Given the description of an element on the screen output the (x, y) to click on. 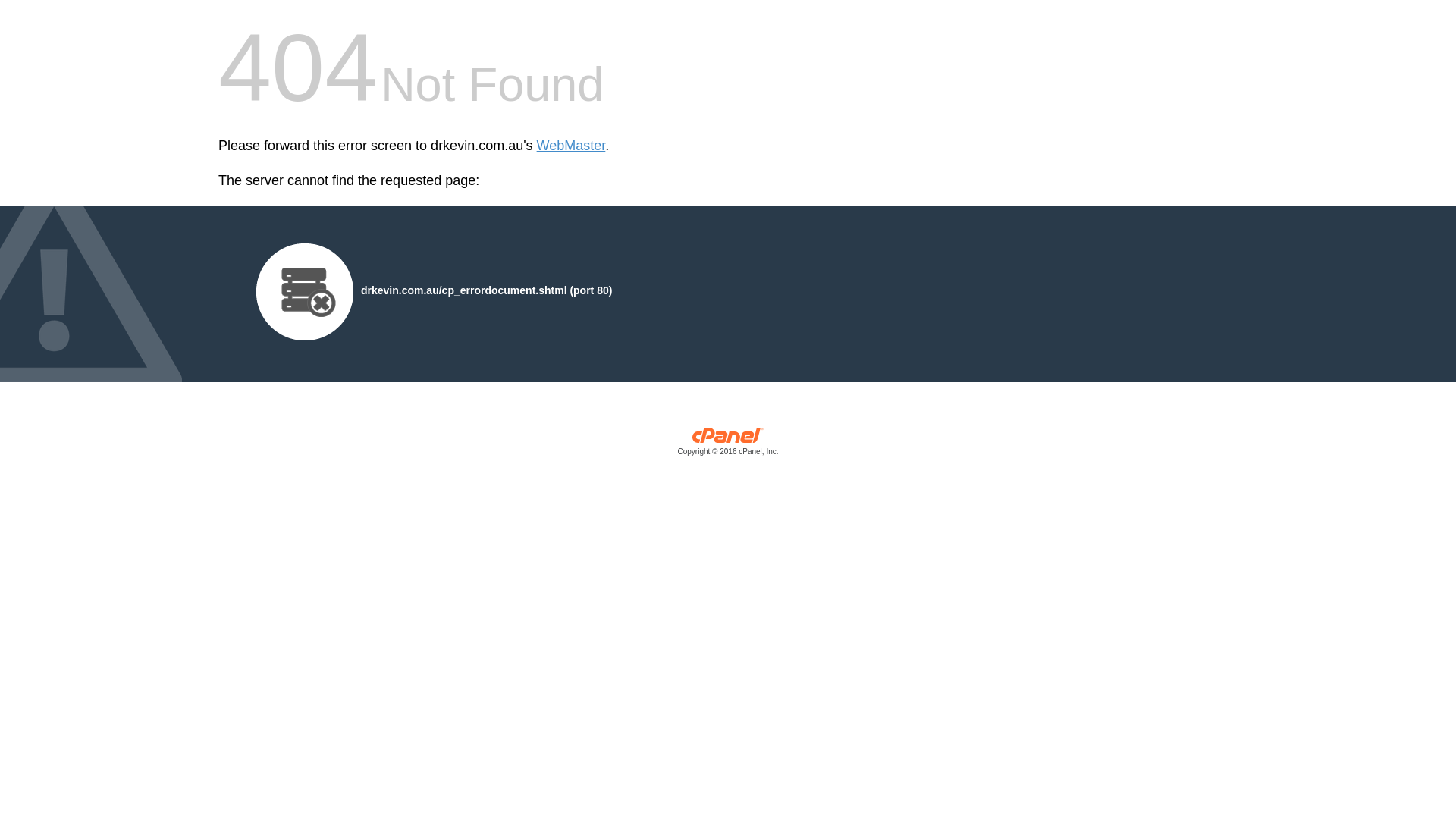
WebMaster Element type: text (570, 145)
